Given the description of an element on the screen output the (x, y) to click on. 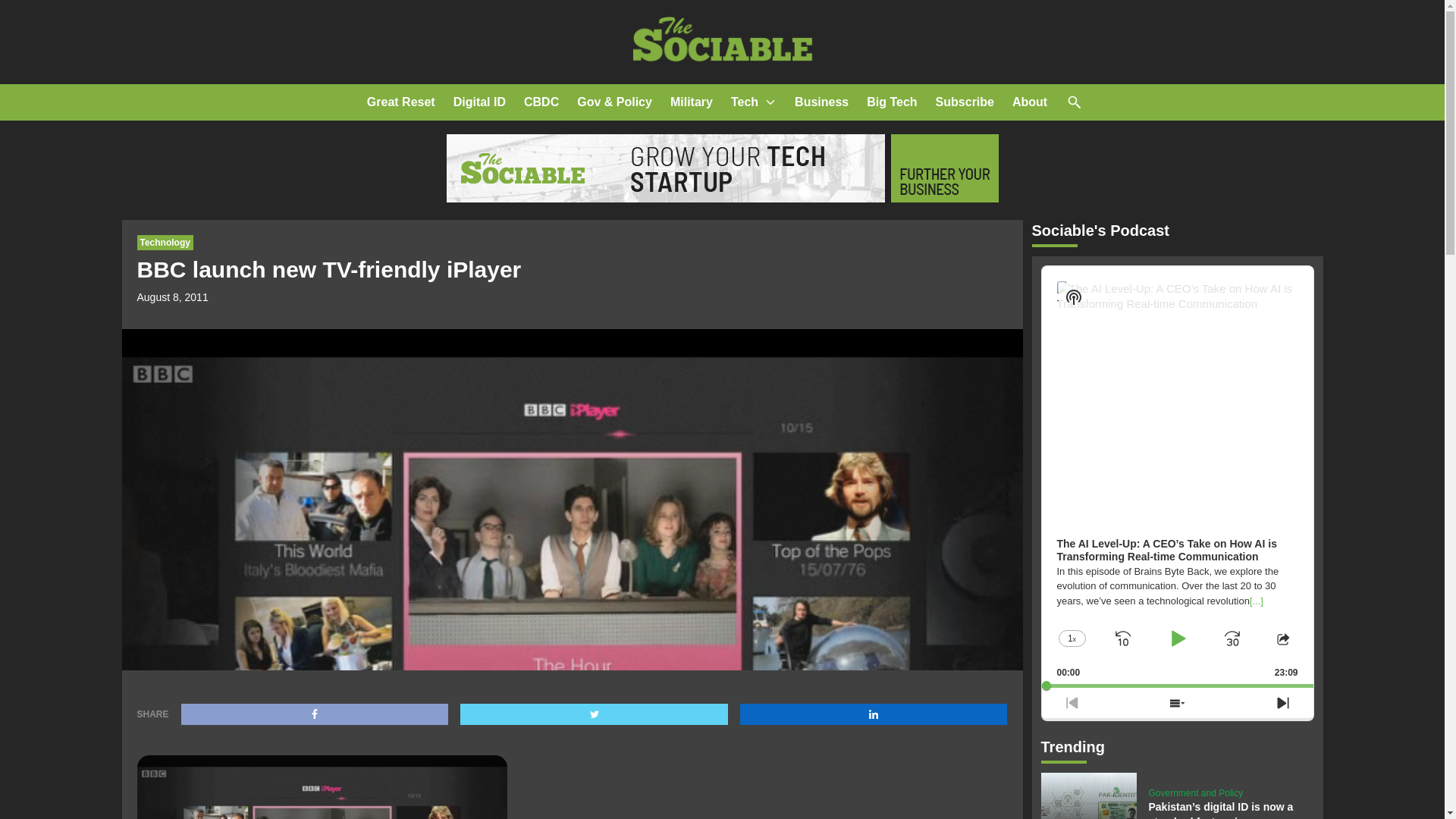
Tech (744, 102)
Business (821, 102)
Great Reset (400, 102)
Technology (164, 242)
CBDC (541, 102)
About (1028, 102)
Subscribe (965, 102)
The new BBC iPlayer for TV (321, 787)
Digital ID (478, 102)
Military (691, 102)
